Given the description of an element on the screen output the (x, y) to click on. 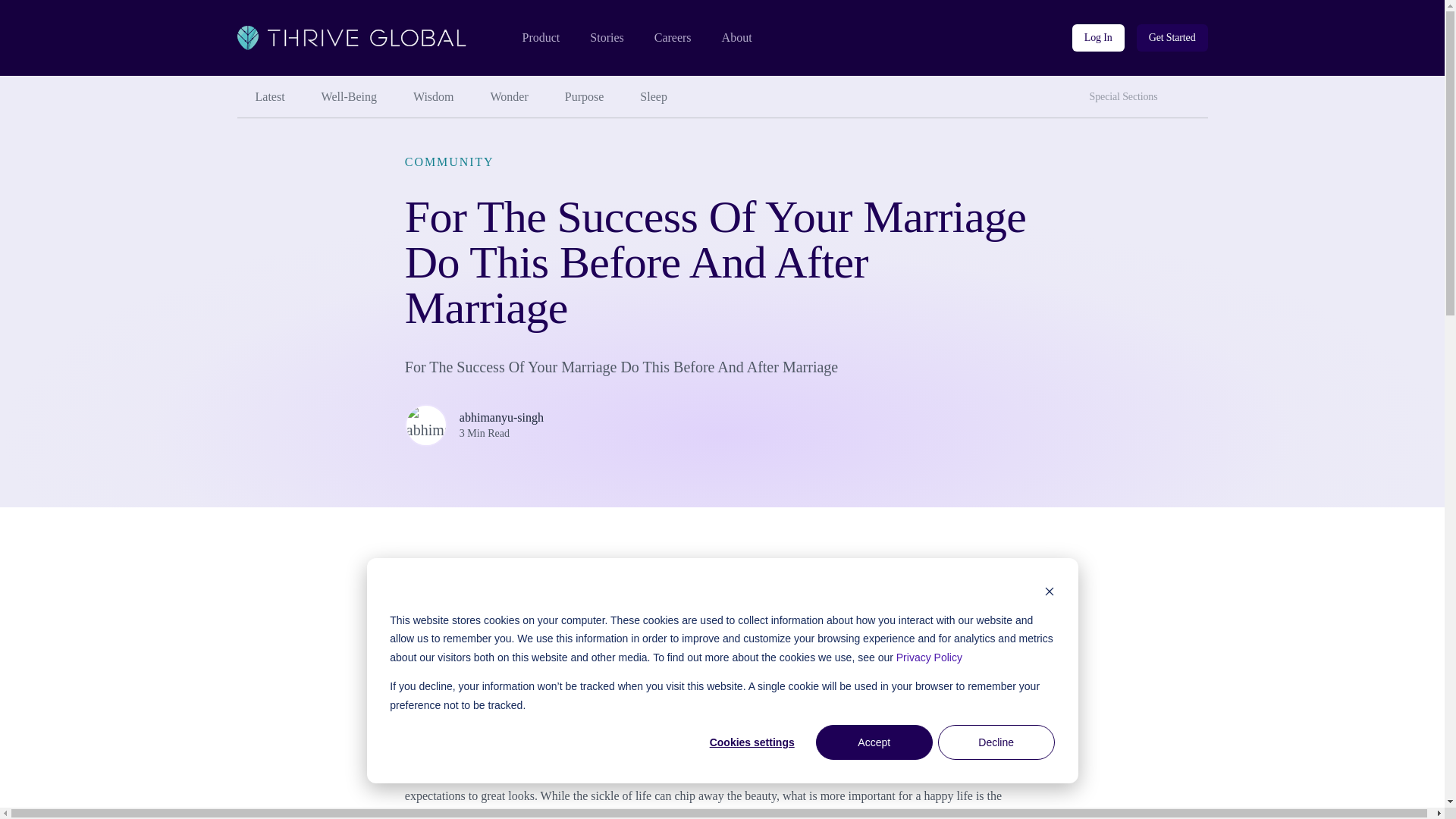
Product (540, 37)
Get Started (1172, 37)
Latest (268, 96)
Sleep (653, 96)
Well-Being (348, 96)
Purpose (585, 96)
Stories (606, 37)
Wonder (509, 96)
Special Sections (1126, 97)
Search site (1193, 91)
About (737, 37)
Log In (1097, 37)
Careers (672, 37)
Wisdom (432, 96)
